Given the description of an element on the screen output the (x, y) to click on. 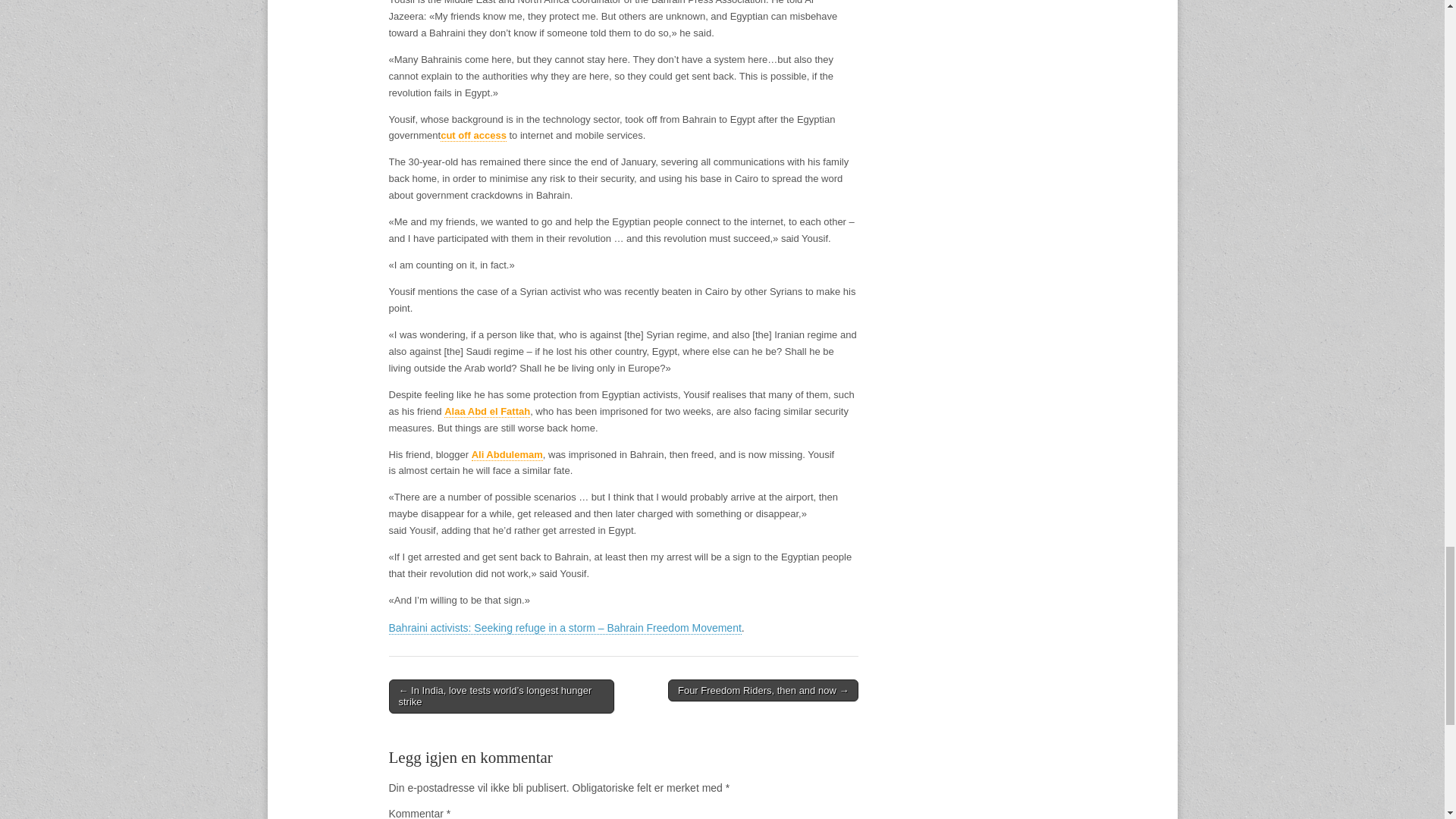
Alaa Abd el Fattah (486, 411)
cut off access (473, 135)
Ali Abdulemam (507, 454)
